Given the description of an element on the screen output the (x, y) to click on. 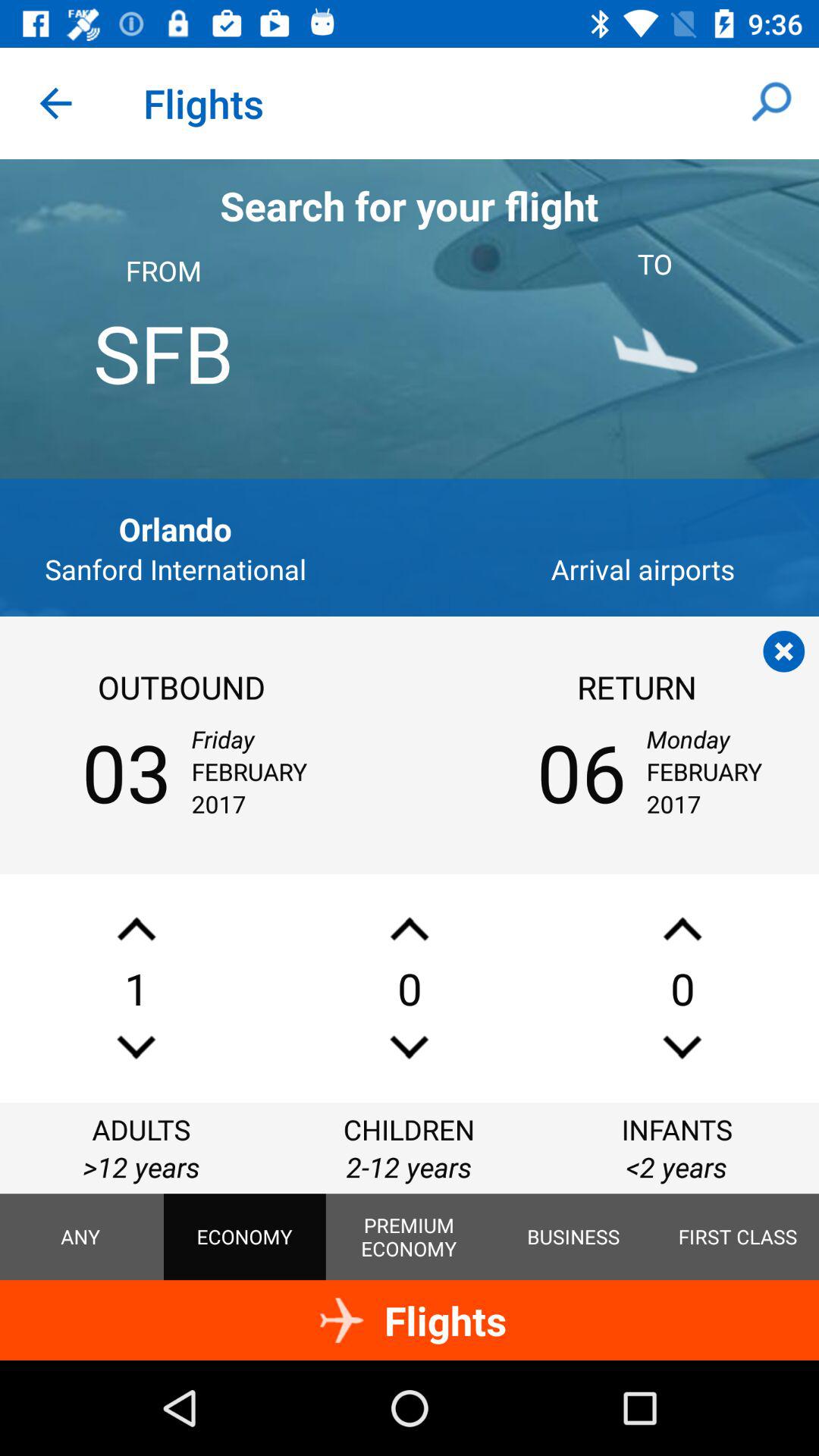
turn on the premium economy (409, 1236)
